Given the description of an element on the screen output the (x, y) to click on. 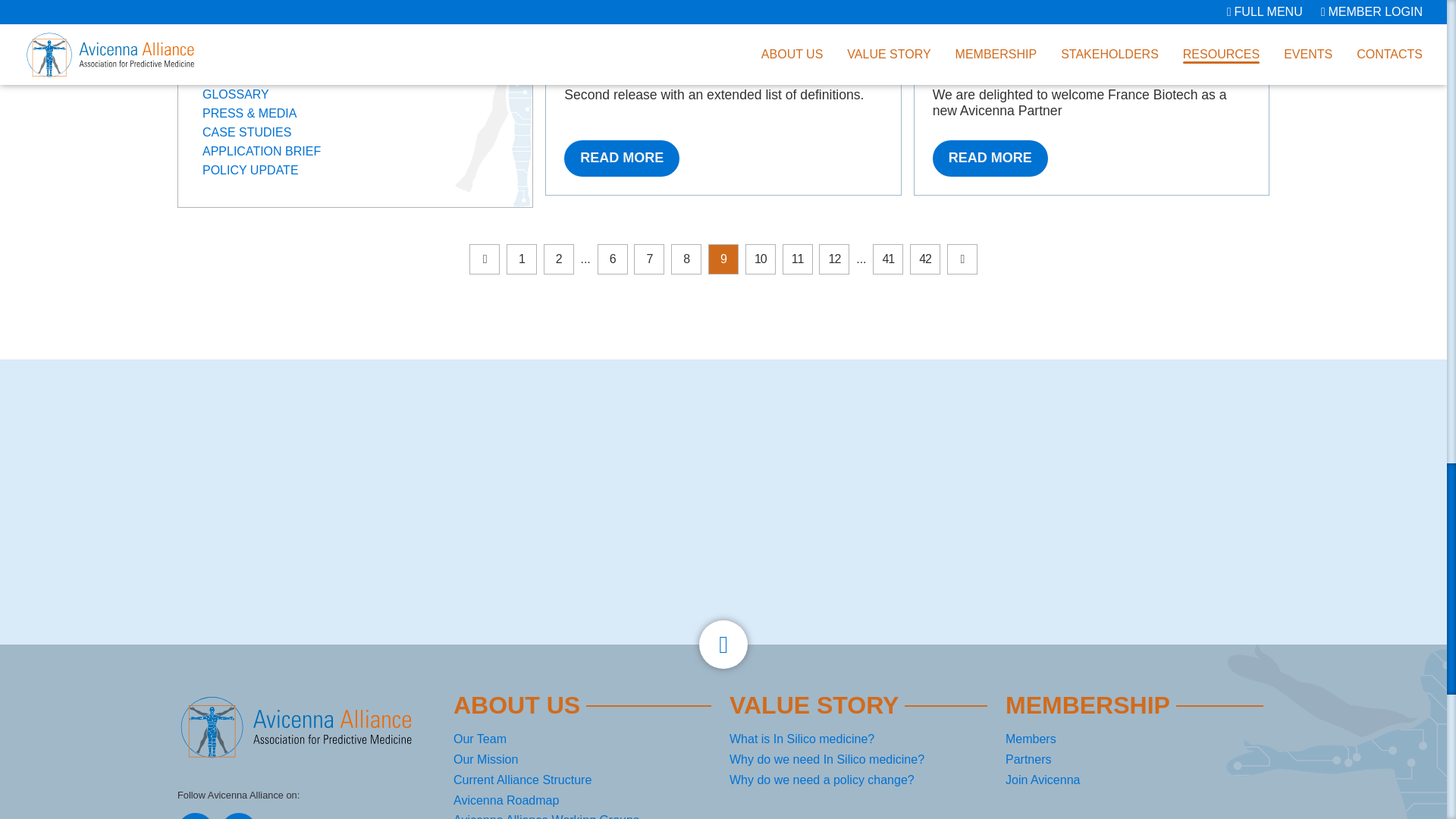
Second release of Avicenna Glossary now available! (621, 158)
France Biotech is a new Avicenna Partner! (990, 158)
